Given the description of an element on the screen output the (x, y) to click on. 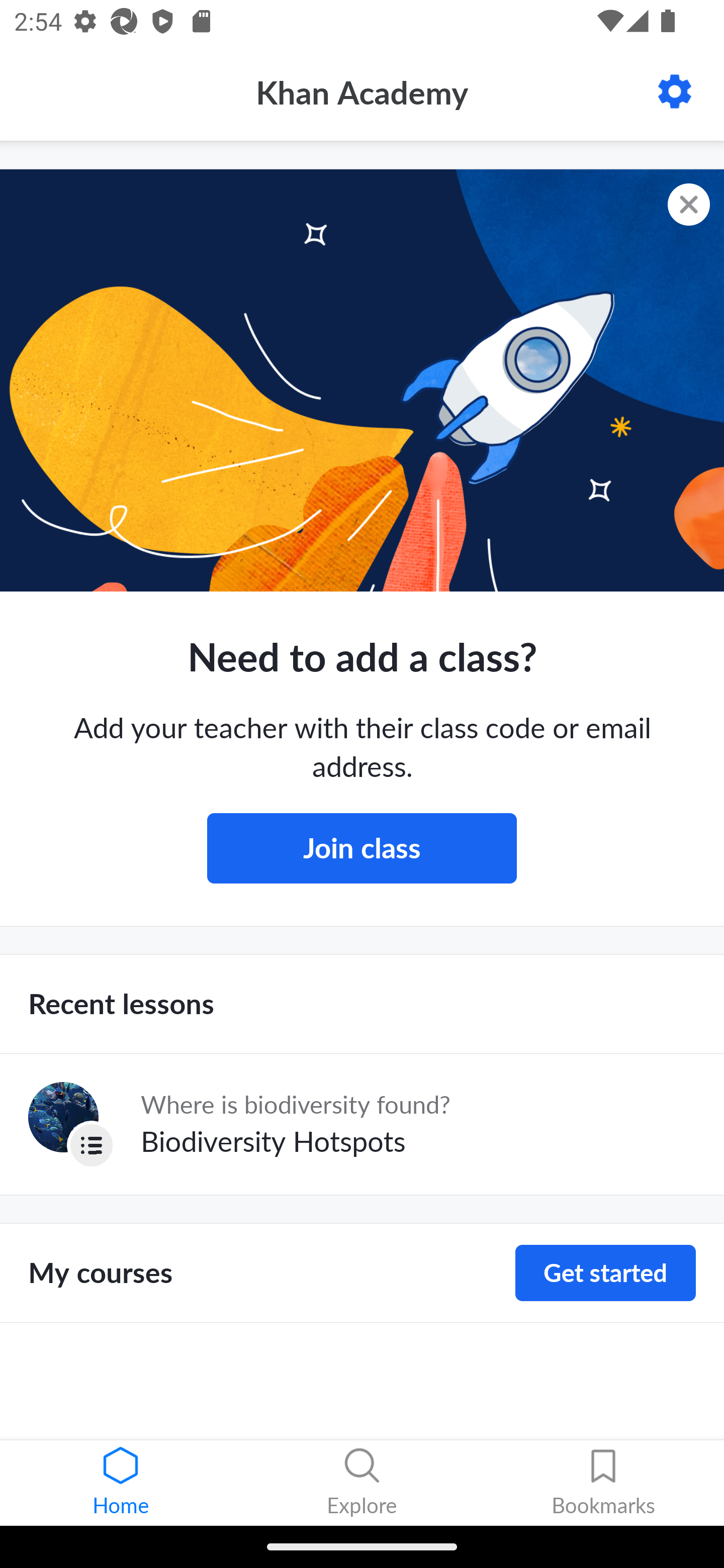
Settings (674, 91)
Dismiss (688, 204)
Join class (361, 847)
Get started (605, 1272)
Home (120, 1482)
Explore (361, 1482)
Bookmarks (603, 1482)
